Given the description of an element on the screen output the (x, y) to click on. 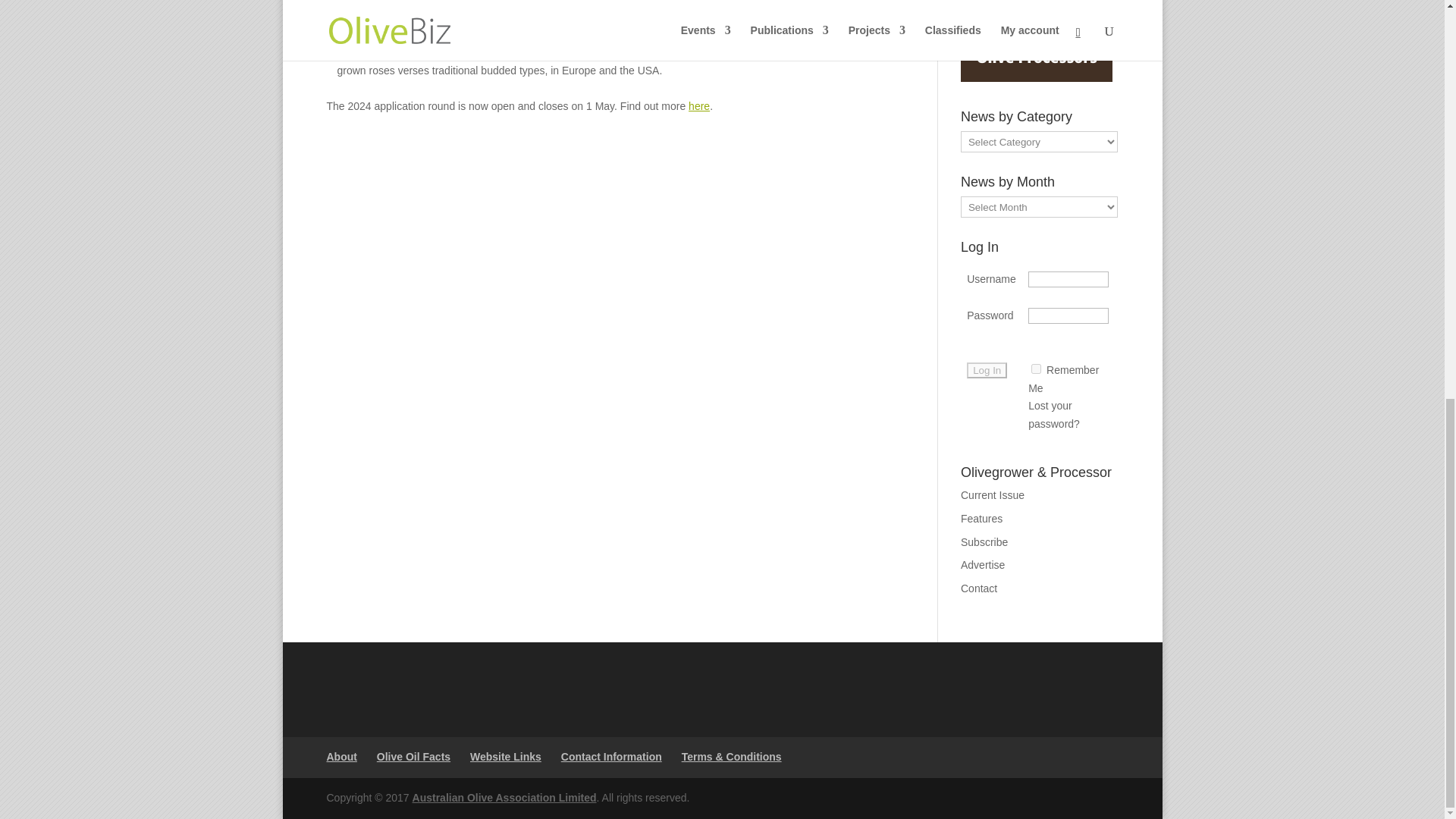
Log In (986, 370)
forever (1035, 368)
Password Lost and Found (1053, 414)
